Given the description of an element on the screen output the (x, y) to click on. 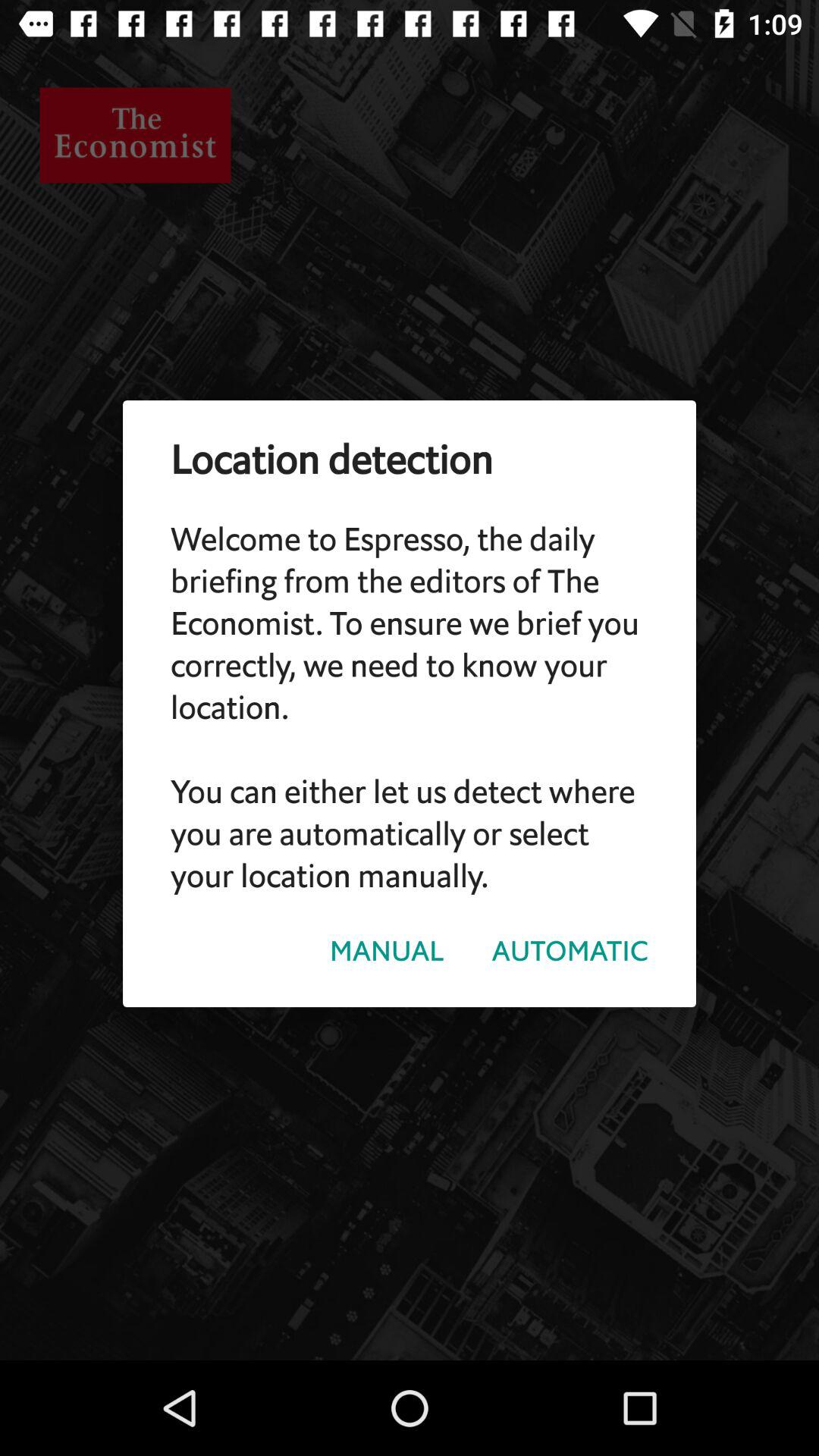
choose the button next to automatic icon (386, 951)
